Given the description of an element on the screen output the (x, y) to click on. 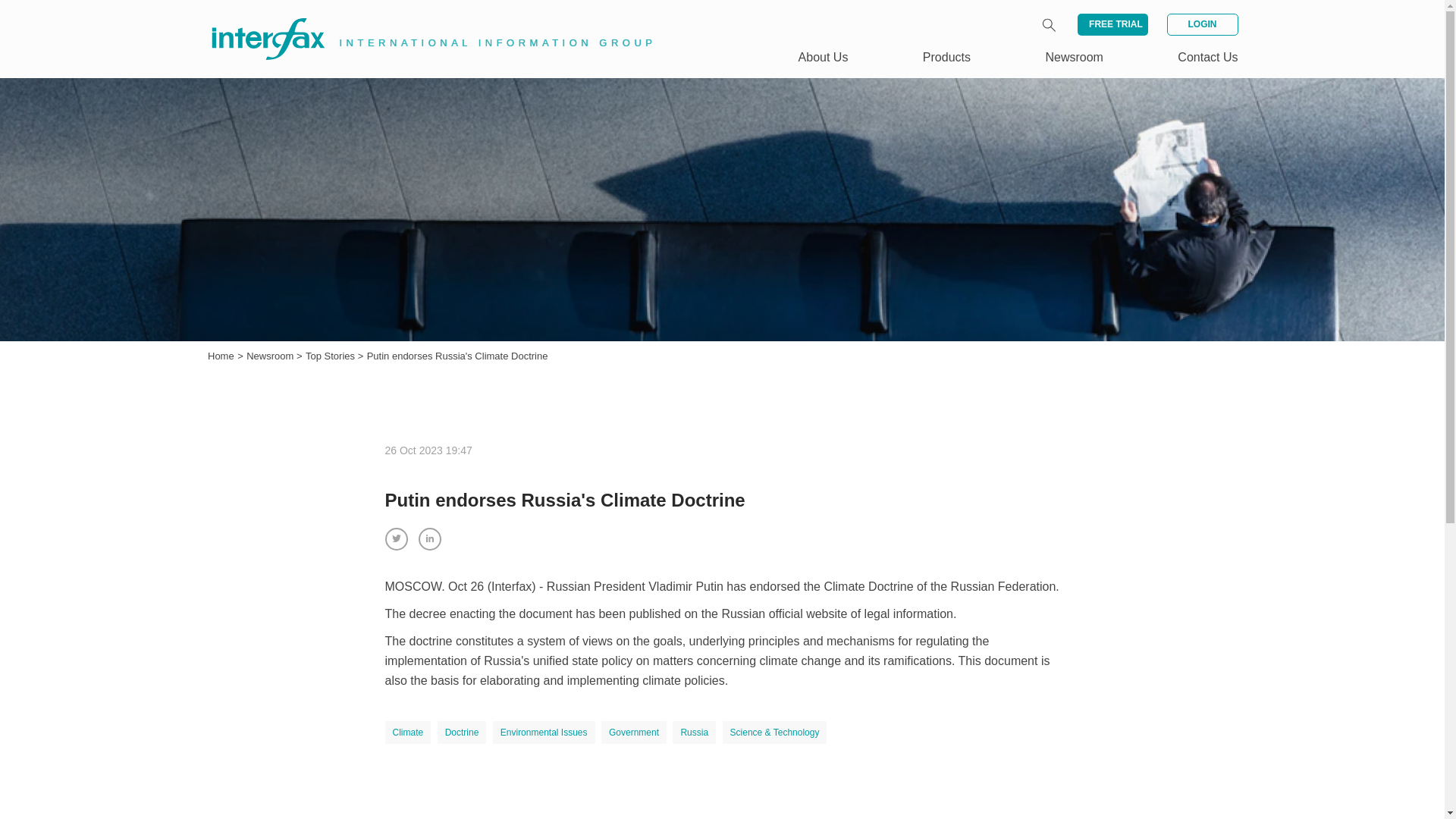
Top Stories (331, 355)
Newsroom (271, 355)
Home (221, 355)
Climate (407, 732)
FREE TRIAL (1112, 24)
Contact Us (1207, 56)
Doctrine (462, 732)
Environmental Issues (544, 732)
Contact Us (1207, 56)
Newsroom (271, 355)
